Given the description of an element on the screen output the (x, y) to click on. 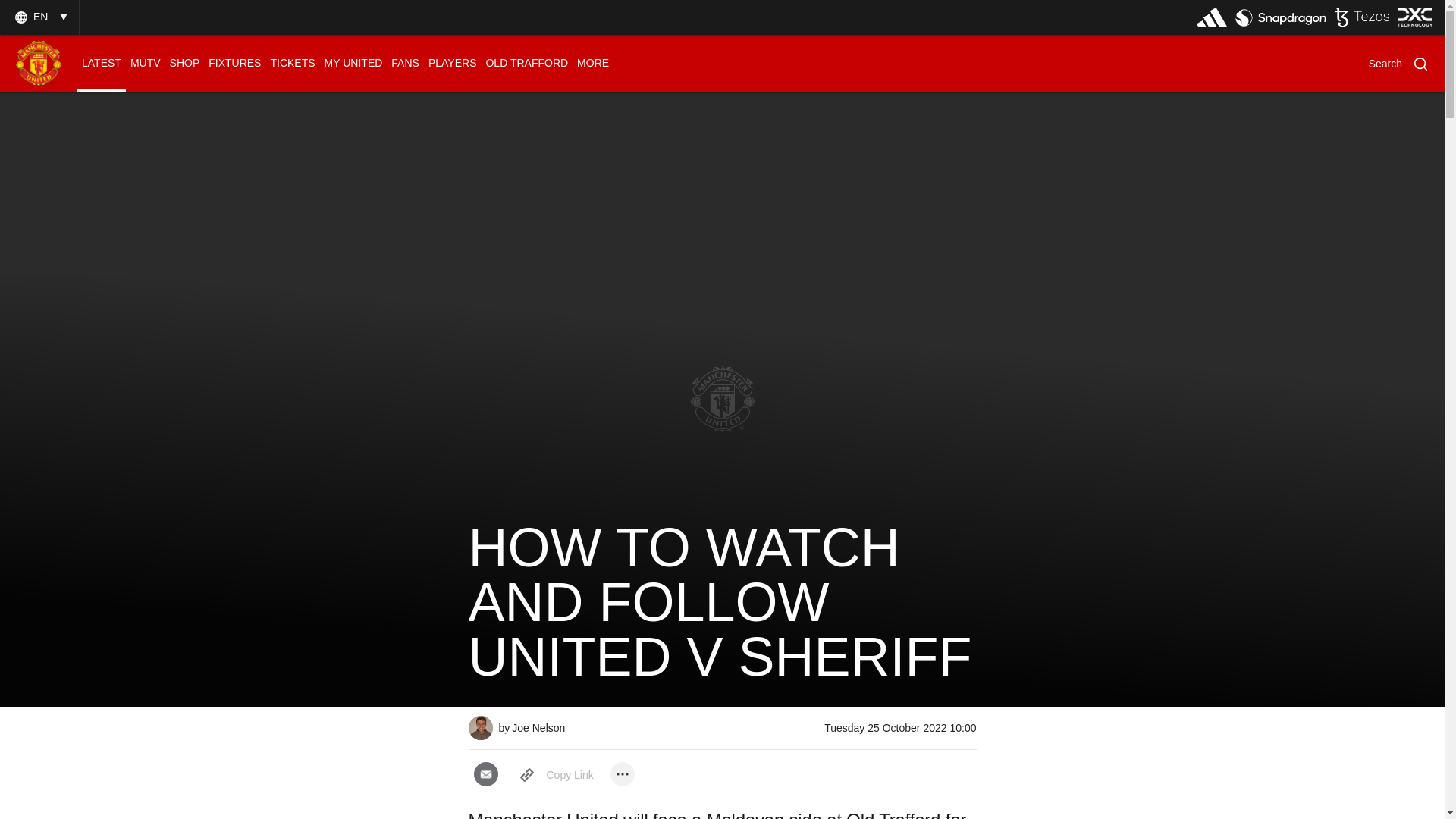
MY UNITED (353, 63)
OLD TRAFFORD (526, 63)
FIXTURES (233, 63)
PLAYERS (452, 63)
Copy Link (552, 774)
TICKETS (291, 63)
